Given the description of an element on the screen output the (x, y) to click on. 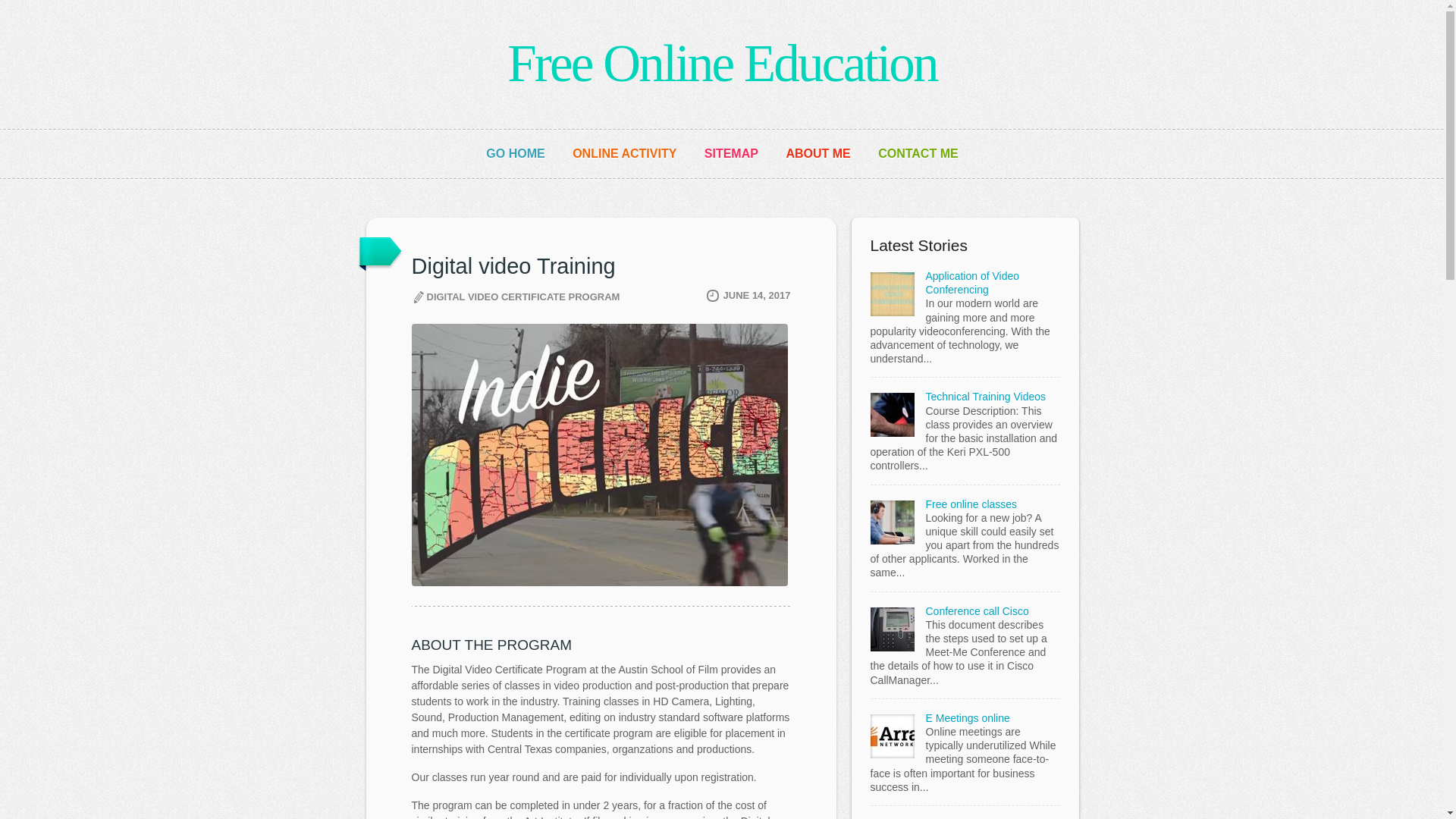
Technical Training Videos (984, 396)
Application of Video Conferencing (971, 282)
E Meetings online (966, 717)
Free online classes (970, 503)
SITEMAP (731, 153)
Conference call Cisco (975, 611)
ONLINE ACTIVITY (624, 153)
ABOUT ME (818, 153)
CONTACT ME (917, 153)
